Given the description of an element on the screen output the (x, y) to click on. 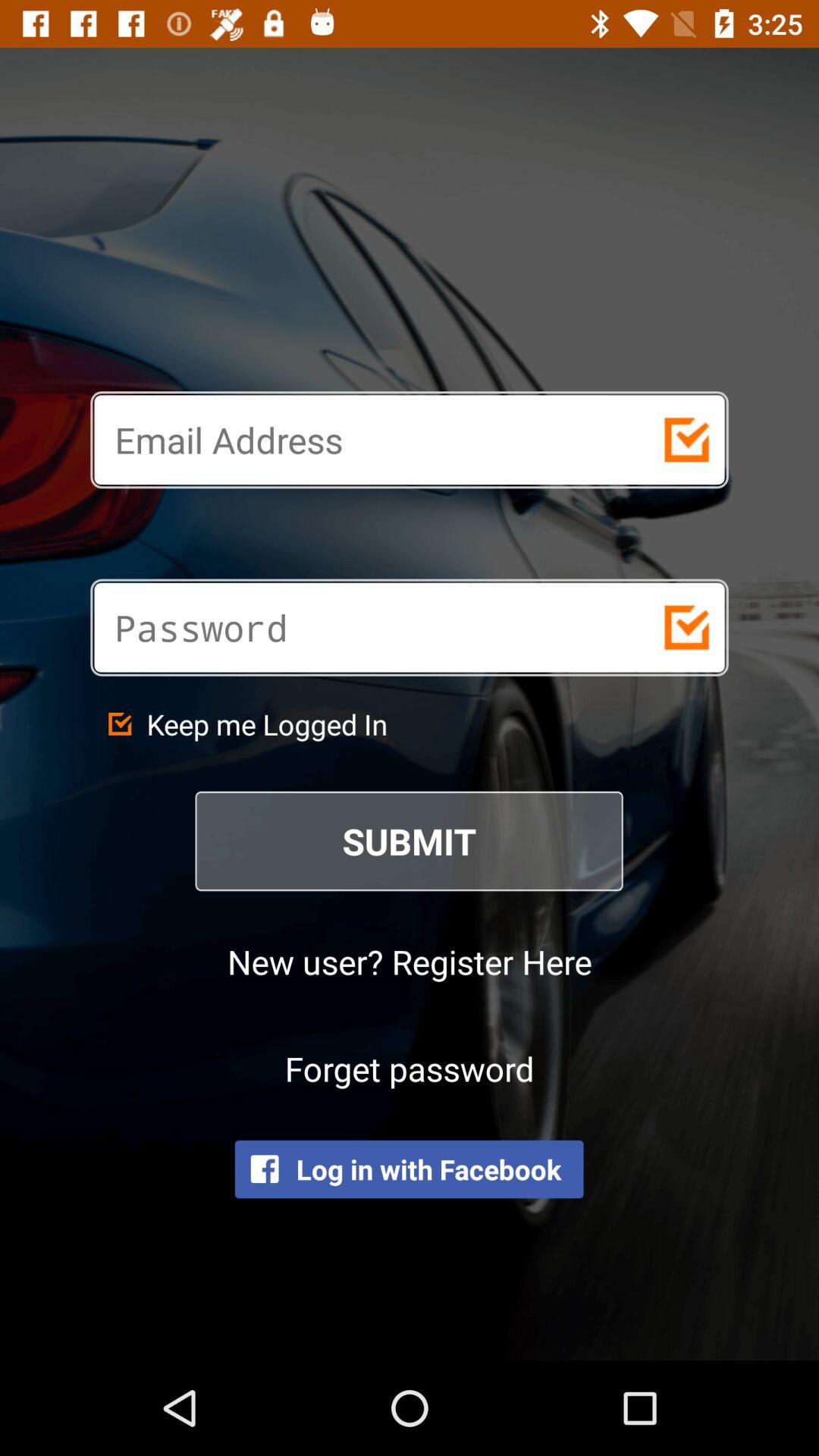
jump to the submit (409, 840)
